Given the description of an element on the screen output the (x, y) to click on. 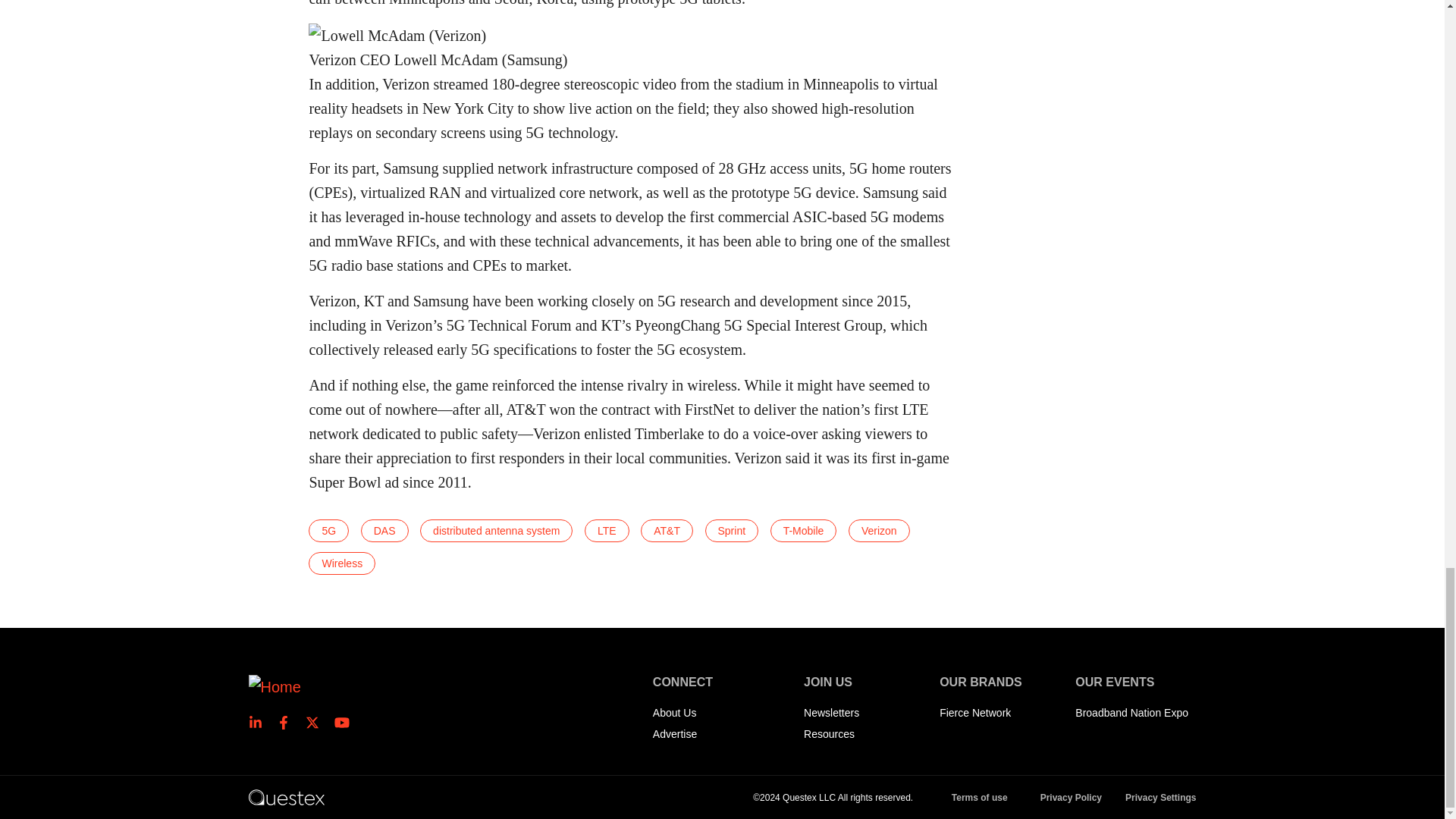
Super Bowl (397, 35)
